Given the description of an element on the screen output the (x, y) to click on. 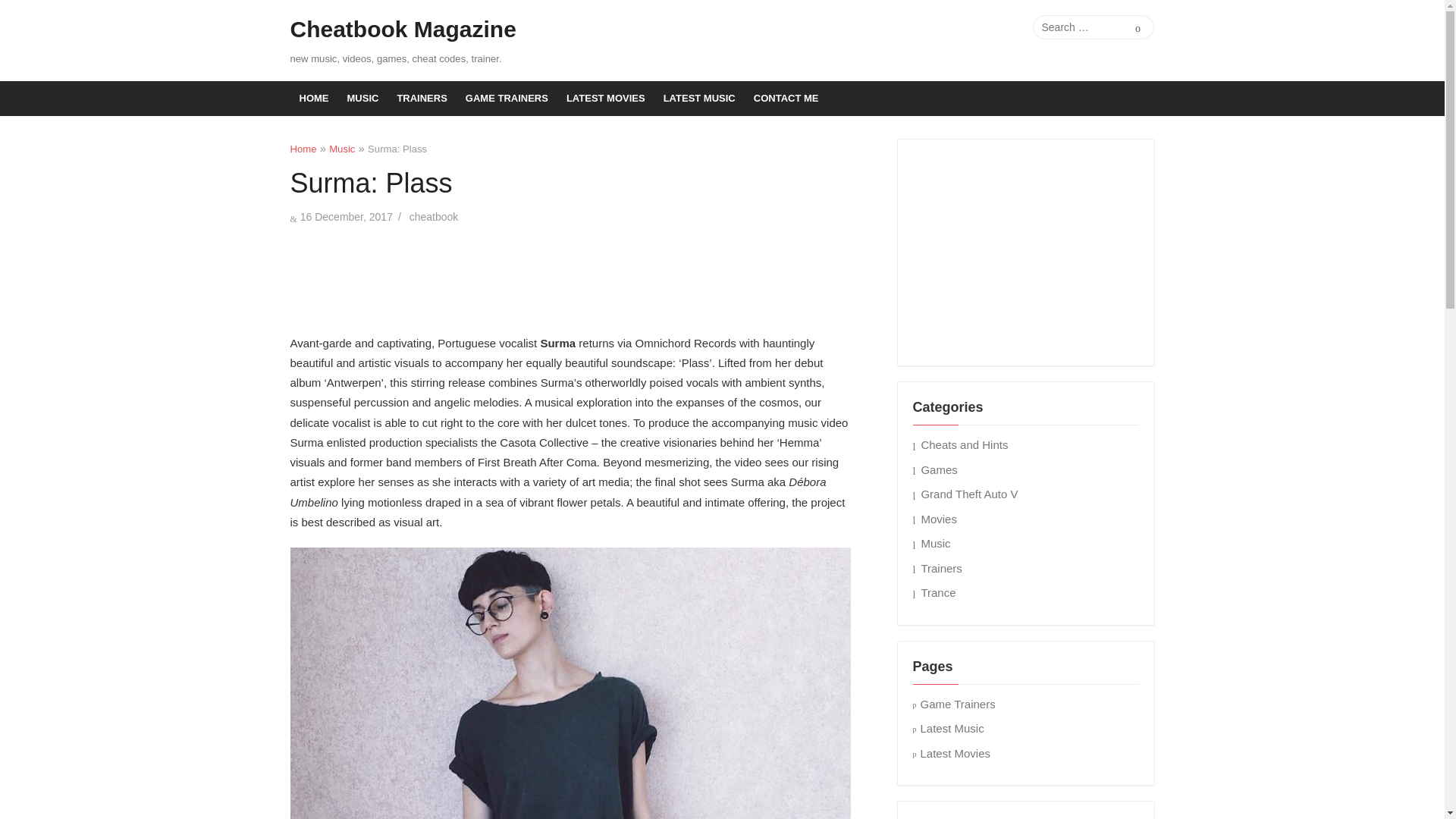
Advertisement (1026, 248)
16 December, 2017 (346, 216)
CONTACT ME (786, 98)
HOME (313, 98)
Music (342, 148)
TRAINERS (421, 98)
Search (1137, 27)
Cheatbook Magazine (402, 29)
Home (302, 148)
MUSIC (362, 98)
Advertisement (569, 275)
cheatbook (433, 216)
LATEST MUSIC (698, 98)
GAME TRAINERS (507, 98)
LATEST MOVIES (605, 98)
